Given the description of an element on the screen output the (x, y) to click on. 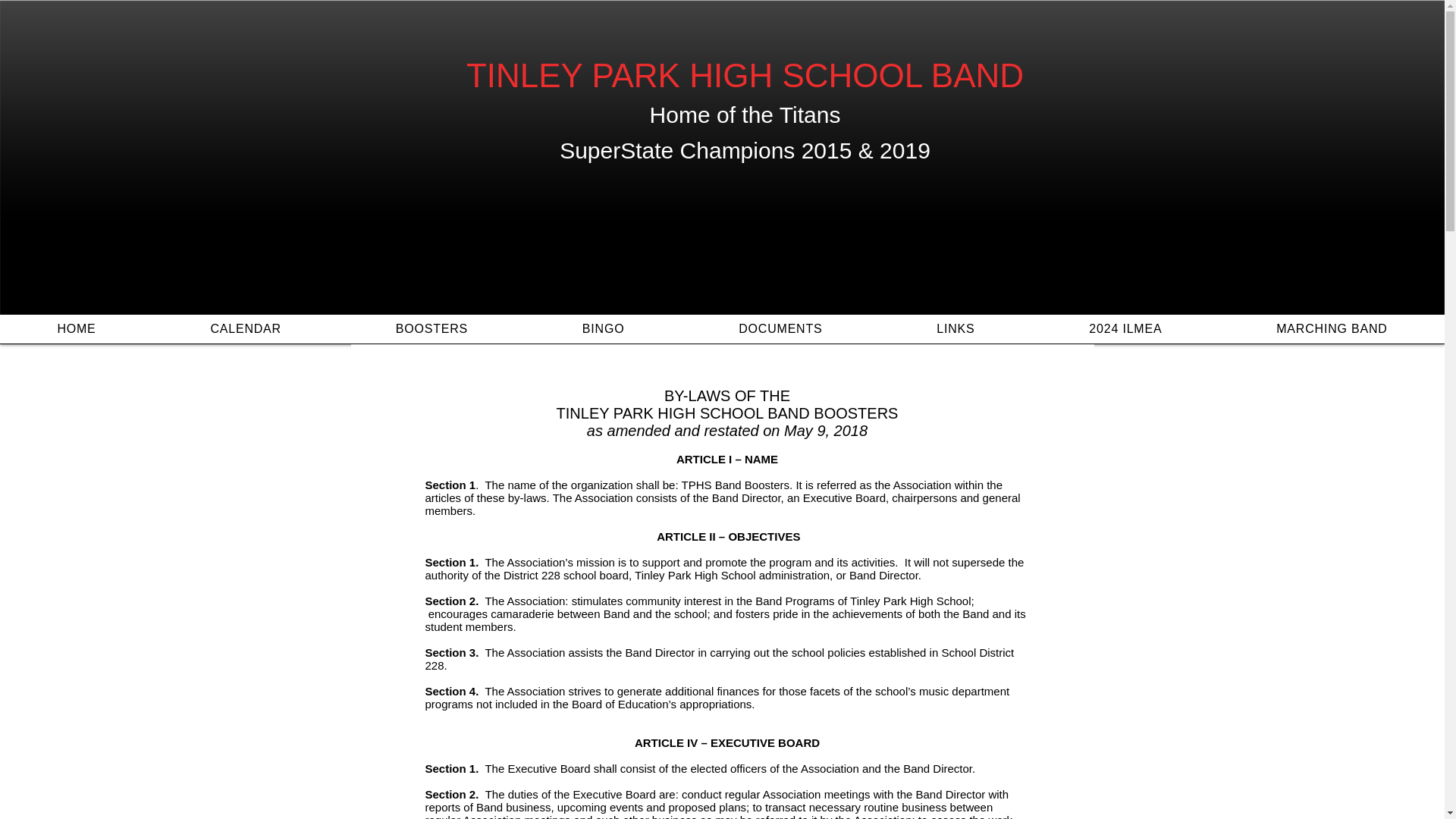
LINKS (955, 328)
BOOSTERS (430, 328)
CALENDAR (244, 328)
BINGO (602, 328)
2024 ILMEA (1126, 328)
HOME (76, 328)
DOCUMENTS (780, 328)
